Given the description of an element on the screen output the (x, y) to click on. 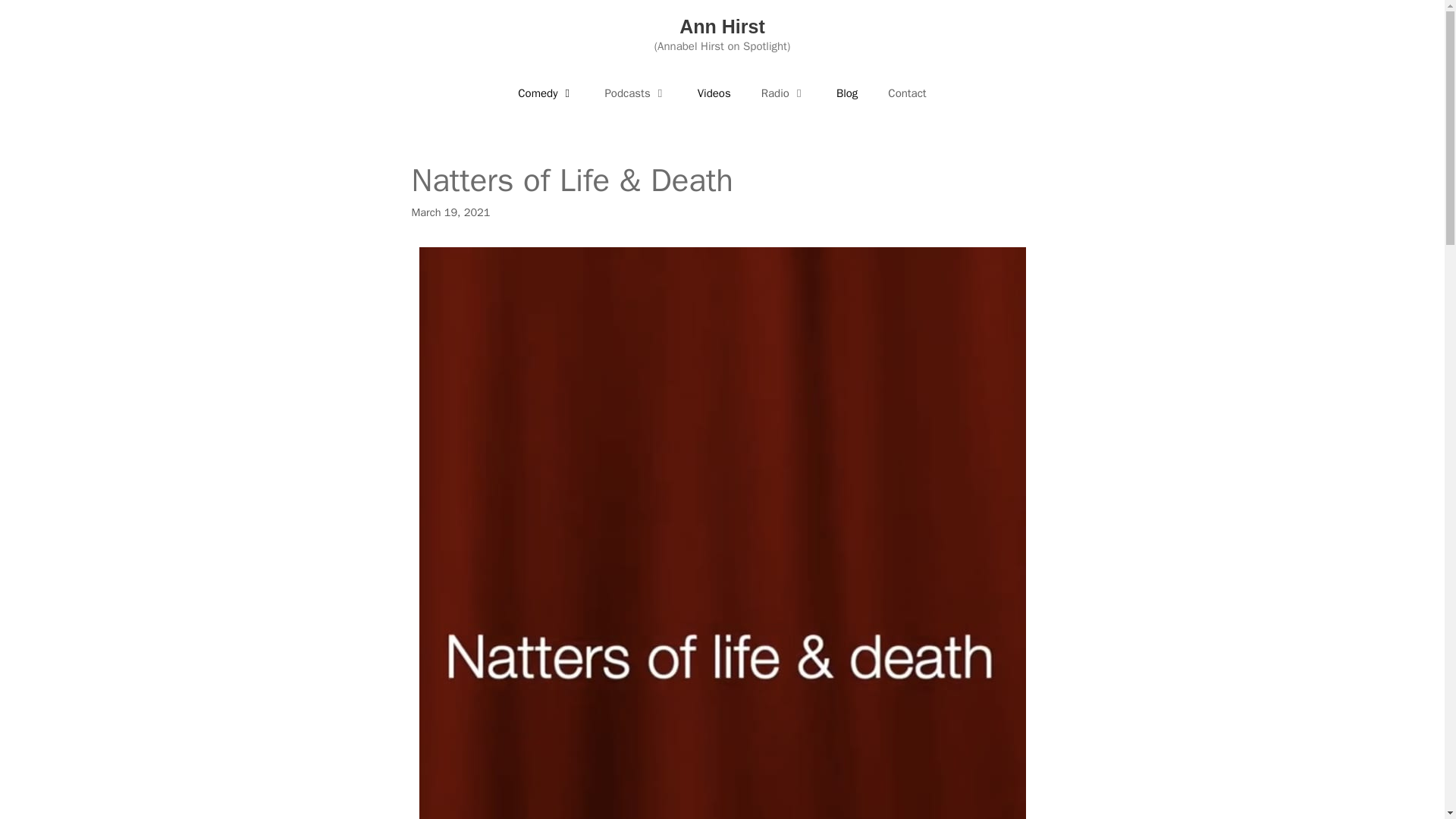
Comedy (545, 92)
Ann Hirst (722, 25)
Podcasts (635, 92)
Videos (713, 92)
Blog (846, 92)
Contact (906, 92)
Radio (783, 92)
